Given the description of an element on the screen output the (x, y) to click on. 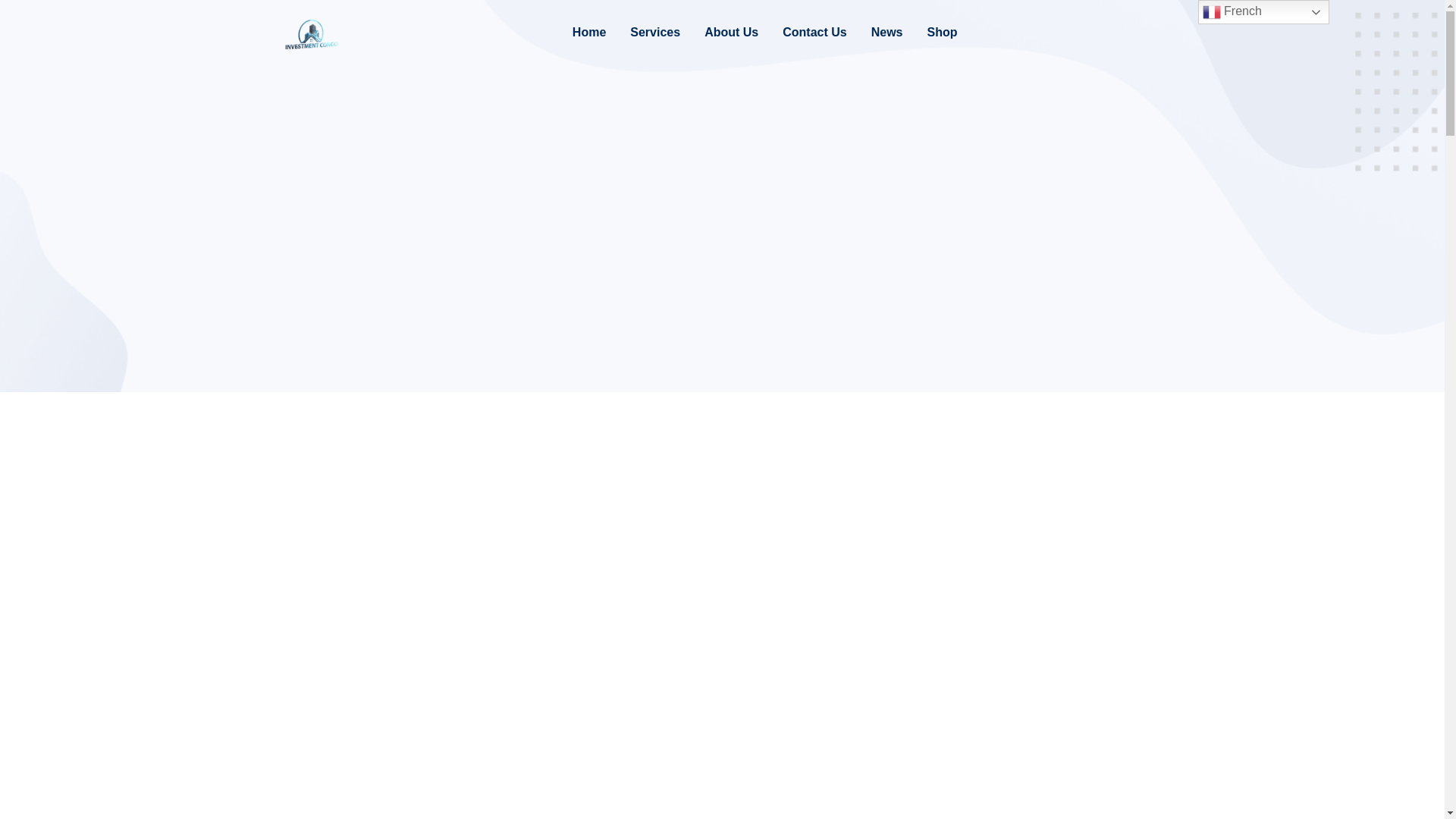
Contact Us (814, 32)
Services (654, 32)
About Us (731, 32)
